Given the description of an element on the screen output the (x, y) to click on. 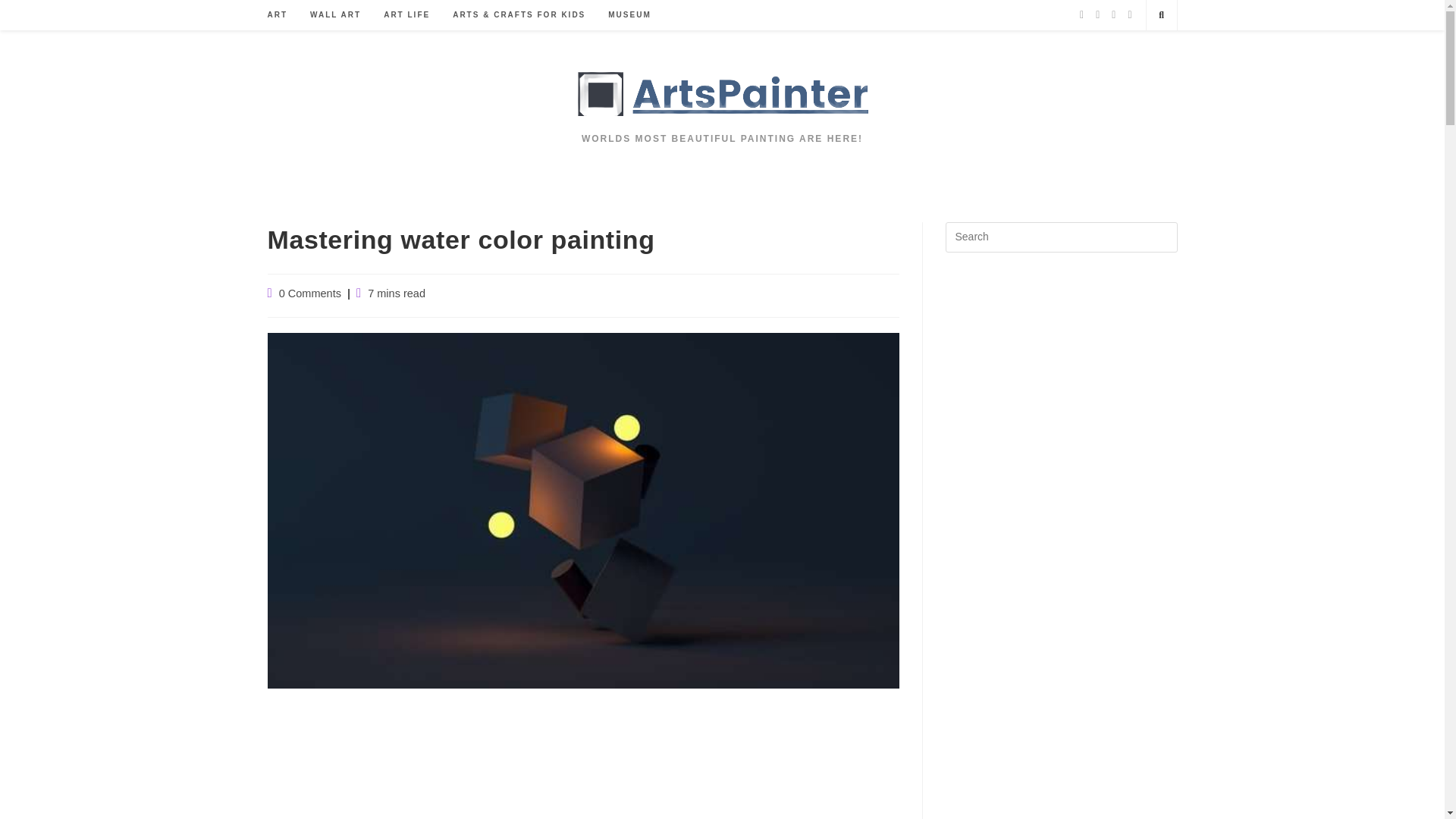
WALL ART (335, 15)
ART (277, 15)
0 Comments (309, 293)
MUSEUM (629, 15)
ART LIFE (406, 15)
